Given the description of an element on the screen output the (x, y) to click on. 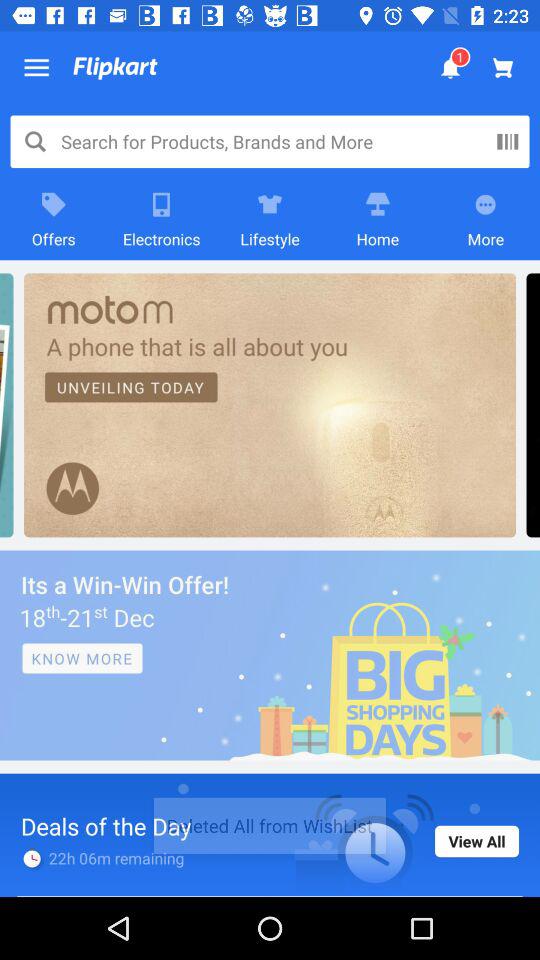
view advertisement for big shopping days (270, 655)
